Given the description of an element on the screen output the (x, y) to click on. 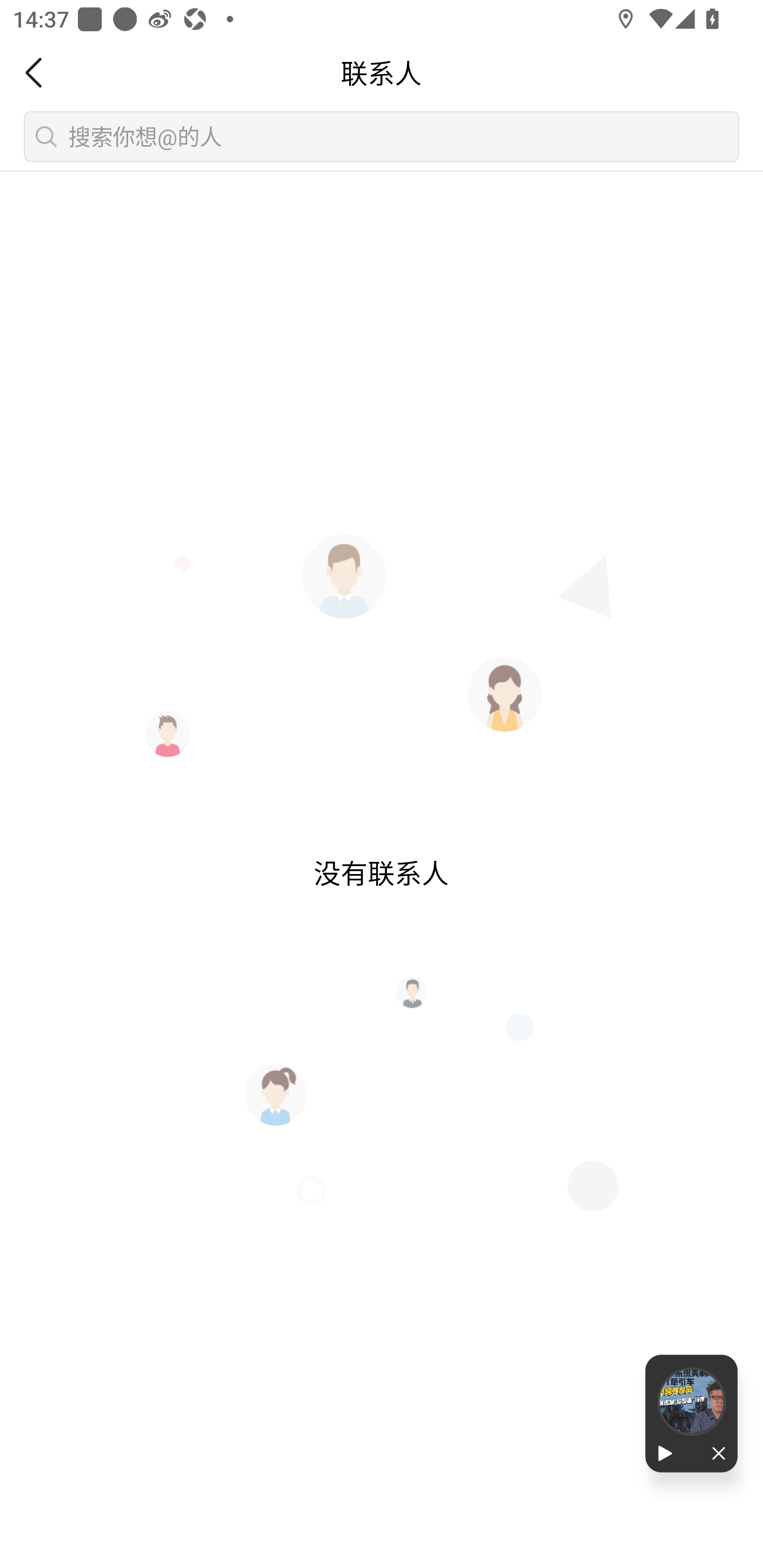
返回 (39, 72)
搜索你想@的人 (381, 136)
当前进度 0% (691, 1401)
播放 (668, 1454)
关闭 (714, 1454)
